Given the description of an element on the screen output the (x, y) to click on. 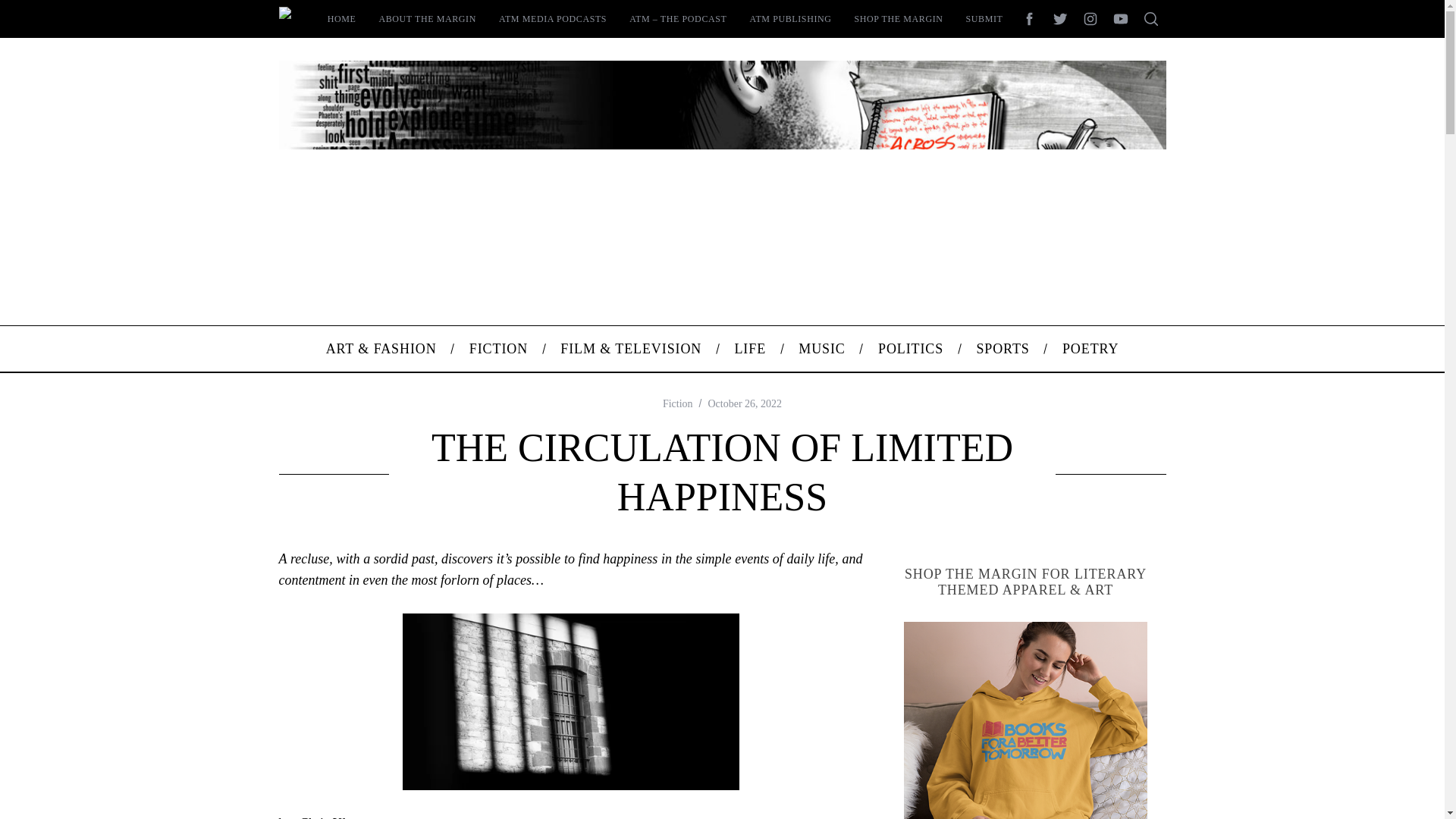
SUBMIT (984, 18)
POETRY (1090, 348)
HOME (341, 18)
FICTION (498, 348)
Fiction (677, 403)
MUSIC (822, 348)
POLITICS (910, 348)
ATM PUBLISHING (790, 18)
SPORTS (1002, 348)
ATM MEDIA PODCASTS (552, 18)
ABOUT THE MARGIN (426, 18)
SHOP THE MARGIN! (1026, 720)
SHOP THE MARGIN (899, 18)
LIFE (750, 348)
